Given the description of an element on the screen output the (x, y) to click on. 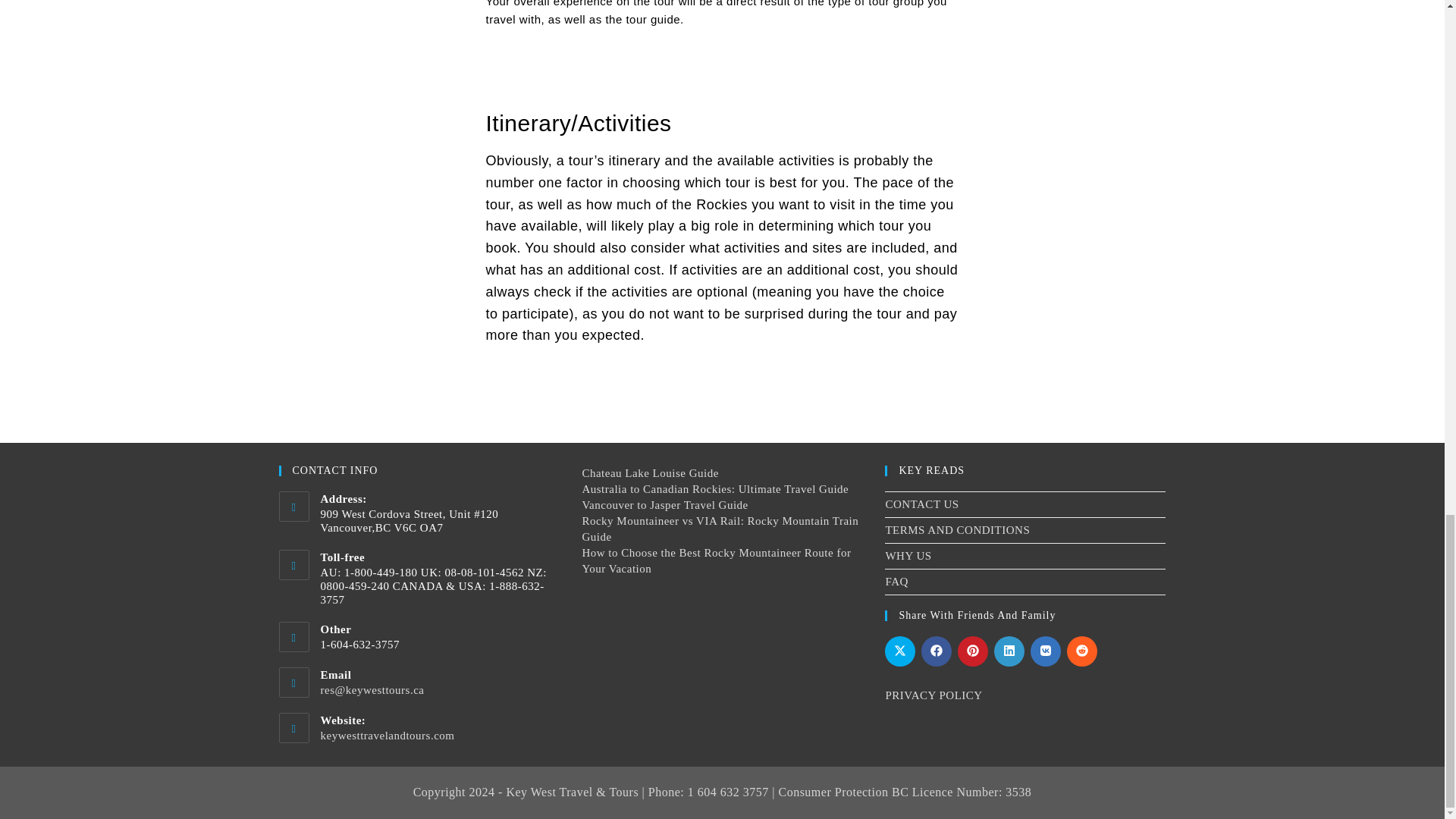
Share on X (900, 651)
Share on VK (1045, 651)
Share on Pinterest (973, 651)
Share on Reddit (1082, 651)
Share on LinkedIn (1009, 651)
Share on Facebook (936, 651)
